Given the description of an element on the screen output the (x, y) to click on. 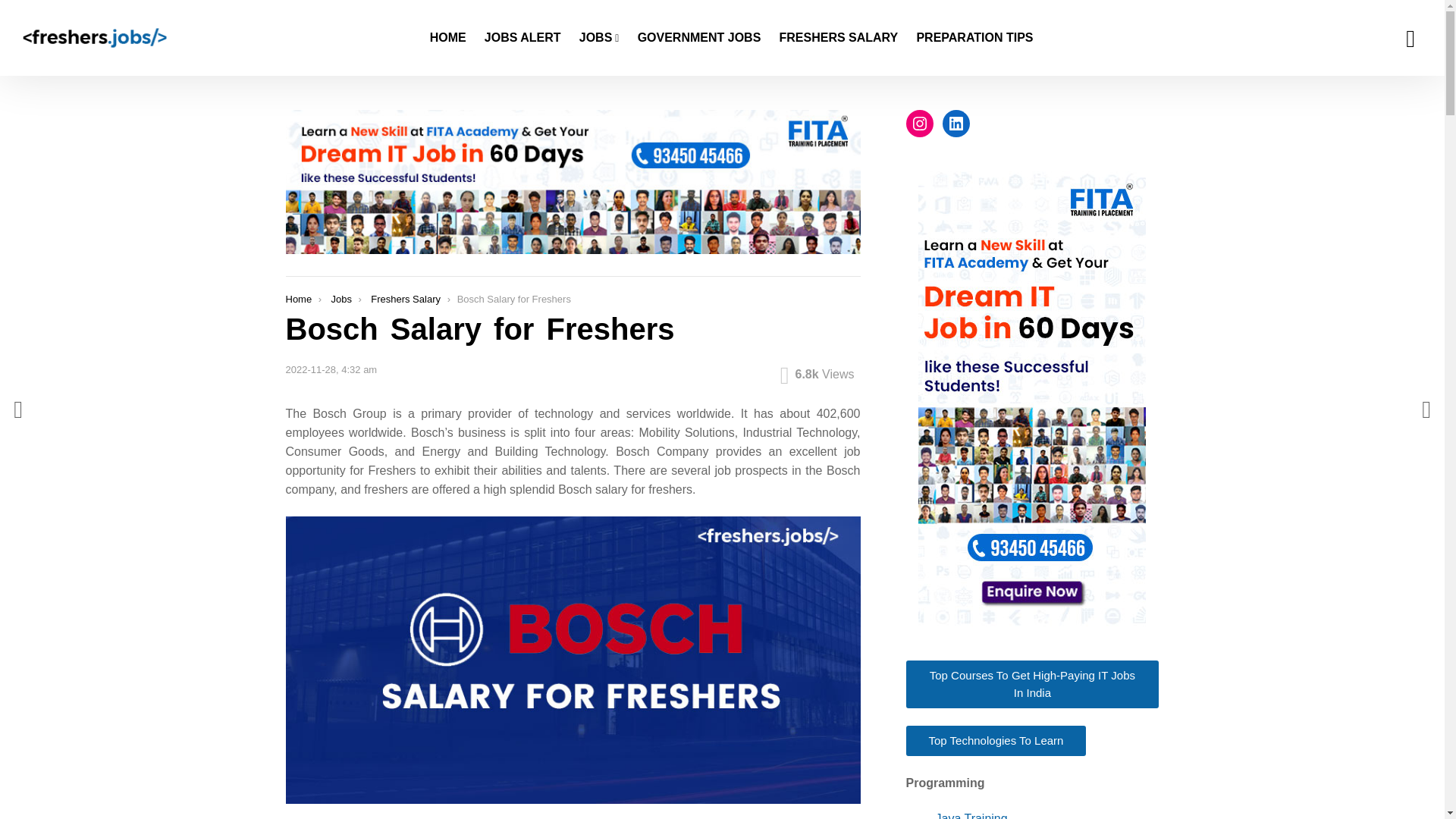
Jobs (340, 298)
FRESHERS SALARY (838, 37)
PREPARATION TIPS (974, 37)
SEARCH (1410, 38)
Home (298, 298)
JOBS (599, 37)
GOVERNMENT JOBS (699, 37)
HOME (448, 37)
Freshers Salary (406, 298)
JOBS ALERT (523, 37)
